Given the description of an element on the screen output the (x, y) to click on. 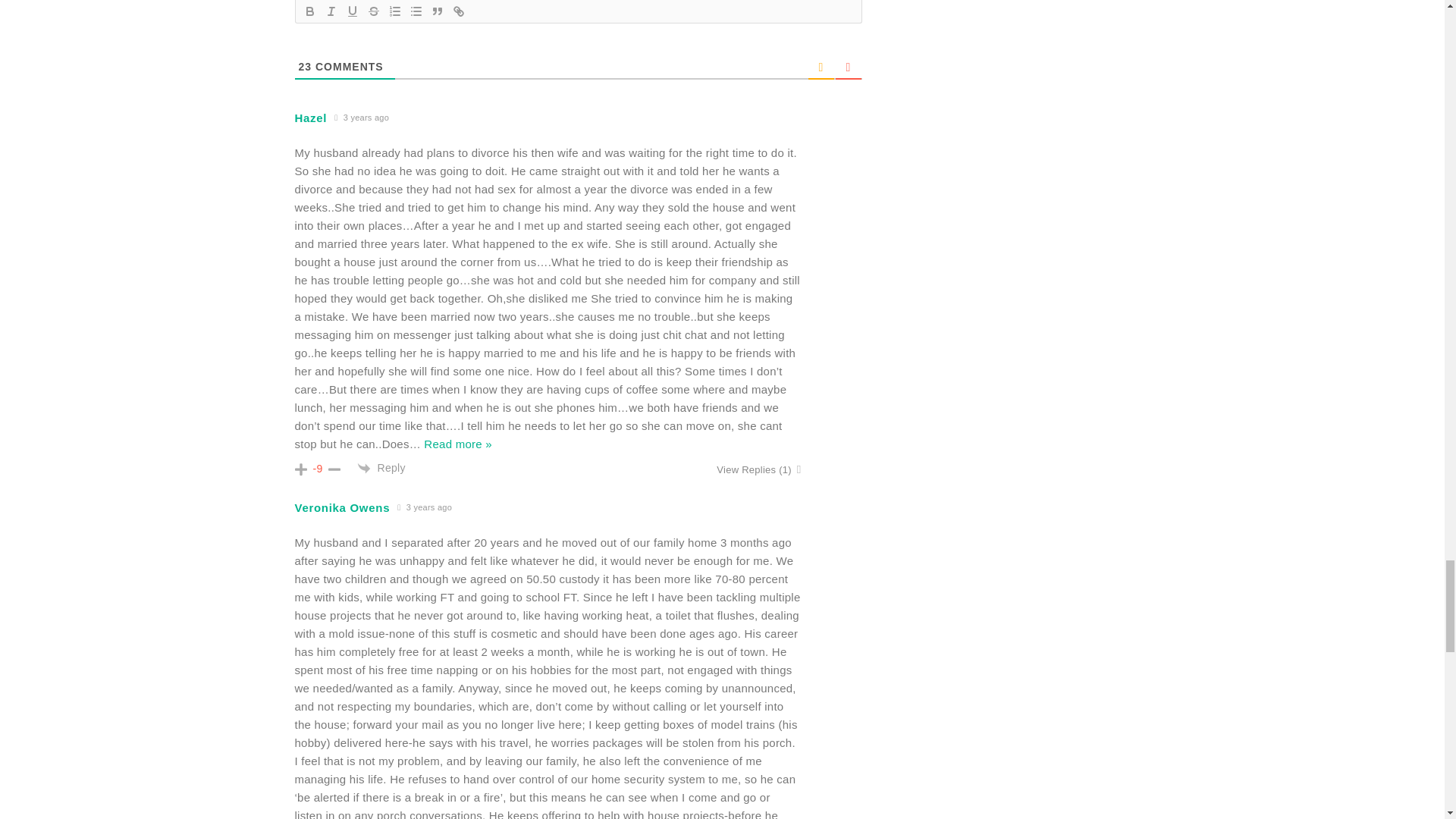
Bold (309, 11)
Underline (351, 11)
Unordered List (415, 11)
Ordered List (394, 11)
Strike (373, 11)
Italic (330, 11)
